Given the description of an element on the screen output the (x, y) to click on. 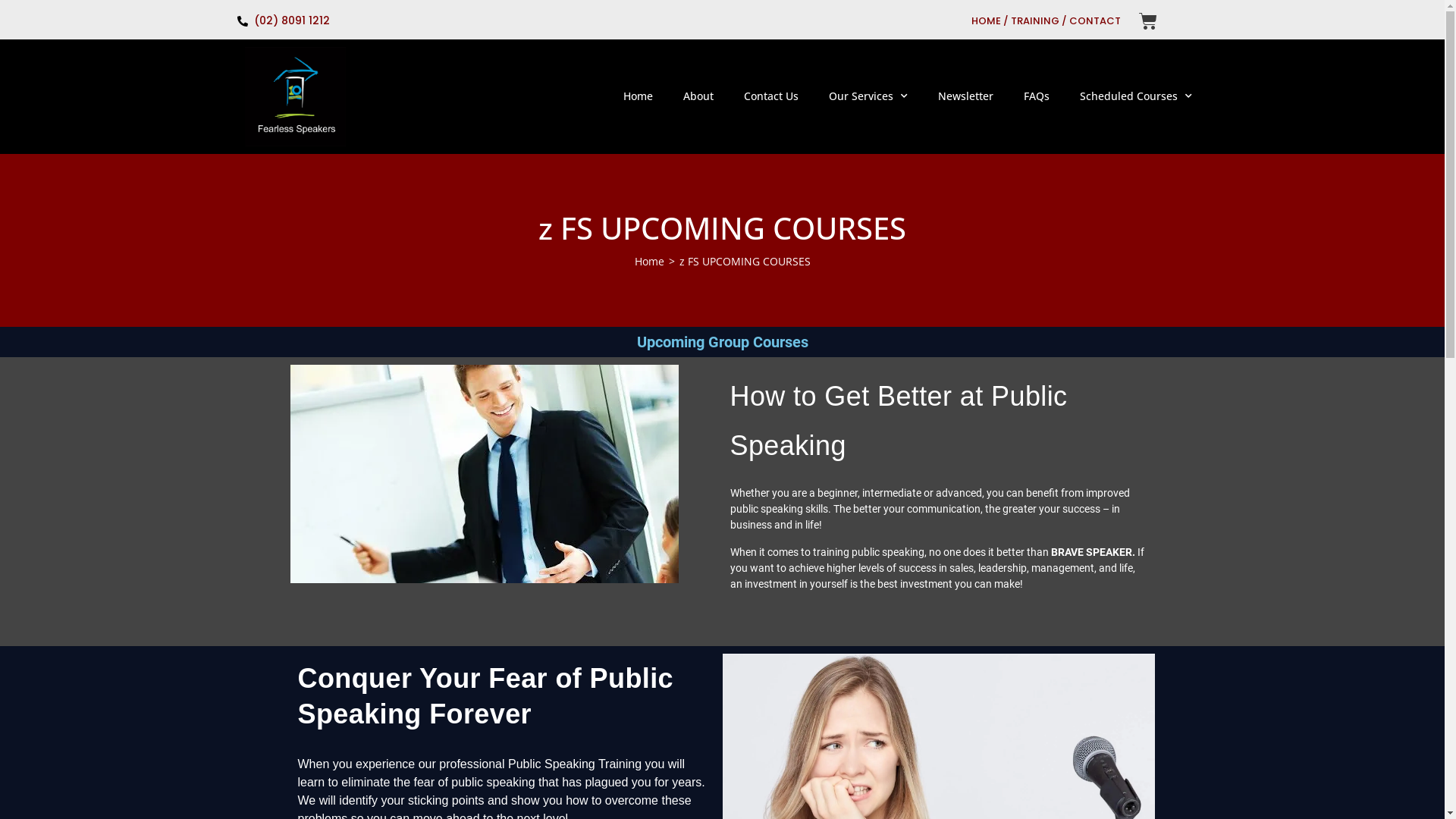
Home Element type: text (637, 96)
TRAINING / Element type: text (1038, 20)
0 Element type: text (1147, 21)
z FS UPCOMING COURSES Element type: text (744, 261)
About Element type: text (698, 96)
FAQs Element type: text (1036, 96)
Our Services Element type: text (868, 96)
Newsletter Element type: text (965, 96)
Scheduled Courses Element type: text (1135, 96)
Contact Us Element type: text (771, 96)
Home Element type: text (648, 261)
HOME / Element type: text (989, 20)
CONTACT Element type: text (1094, 20)
(02) 8091 1212 Element type: text (576, 20)
